Given the description of an element on the screen output the (x, y) to click on. 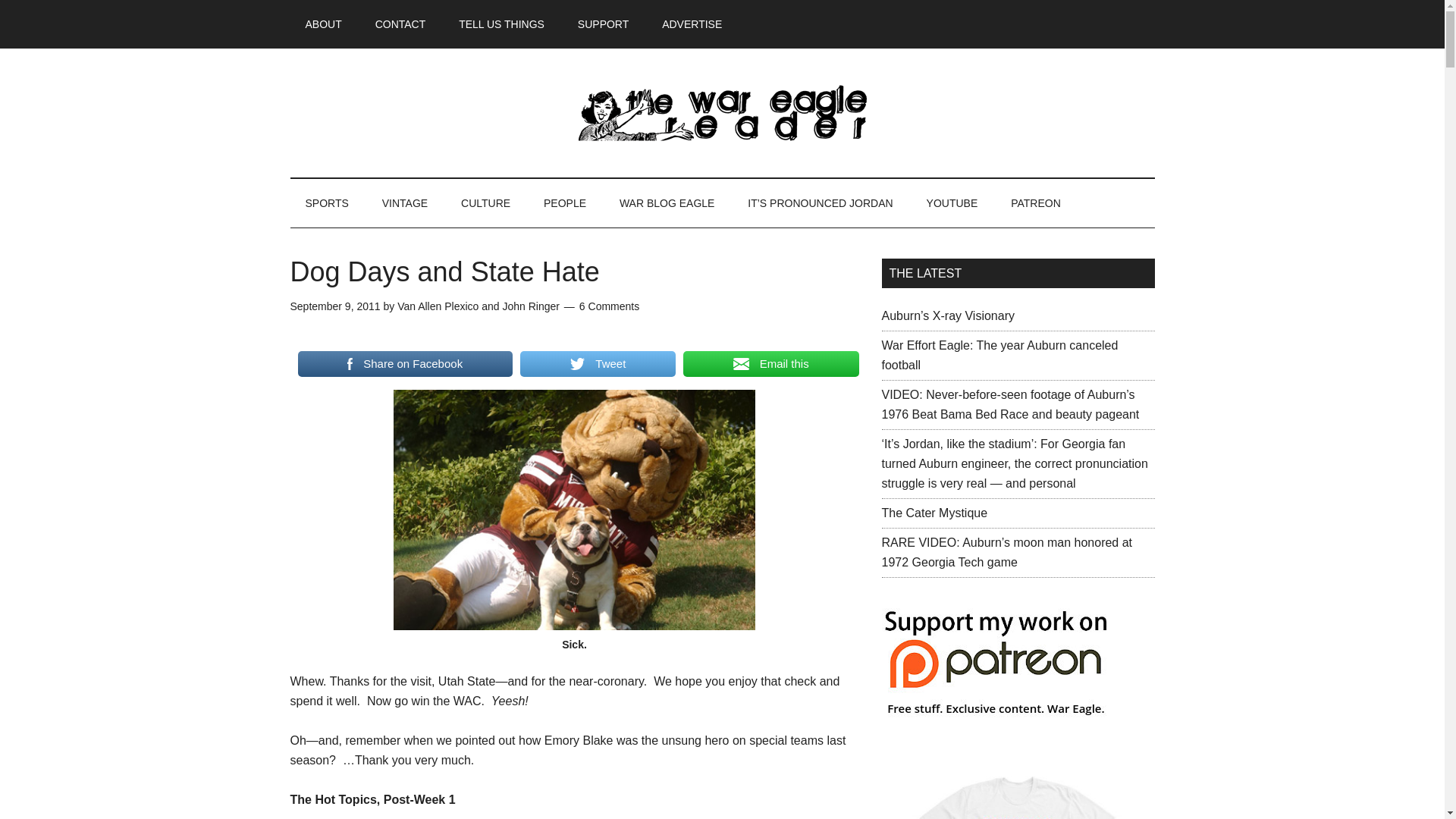
Van Allen Plexico and John Ringer (478, 306)
Email this (770, 363)
Tweet (597, 363)
SPORTS (325, 203)
YOUTUBE (951, 203)
CULTURE (485, 203)
PEOPLE (564, 203)
WAR BLOG EAGLE (667, 203)
VINTAGE (404, 203)
TELL US THINGS (501, 24)
